Given the description of an element on the screen output the (x, y) to click on. 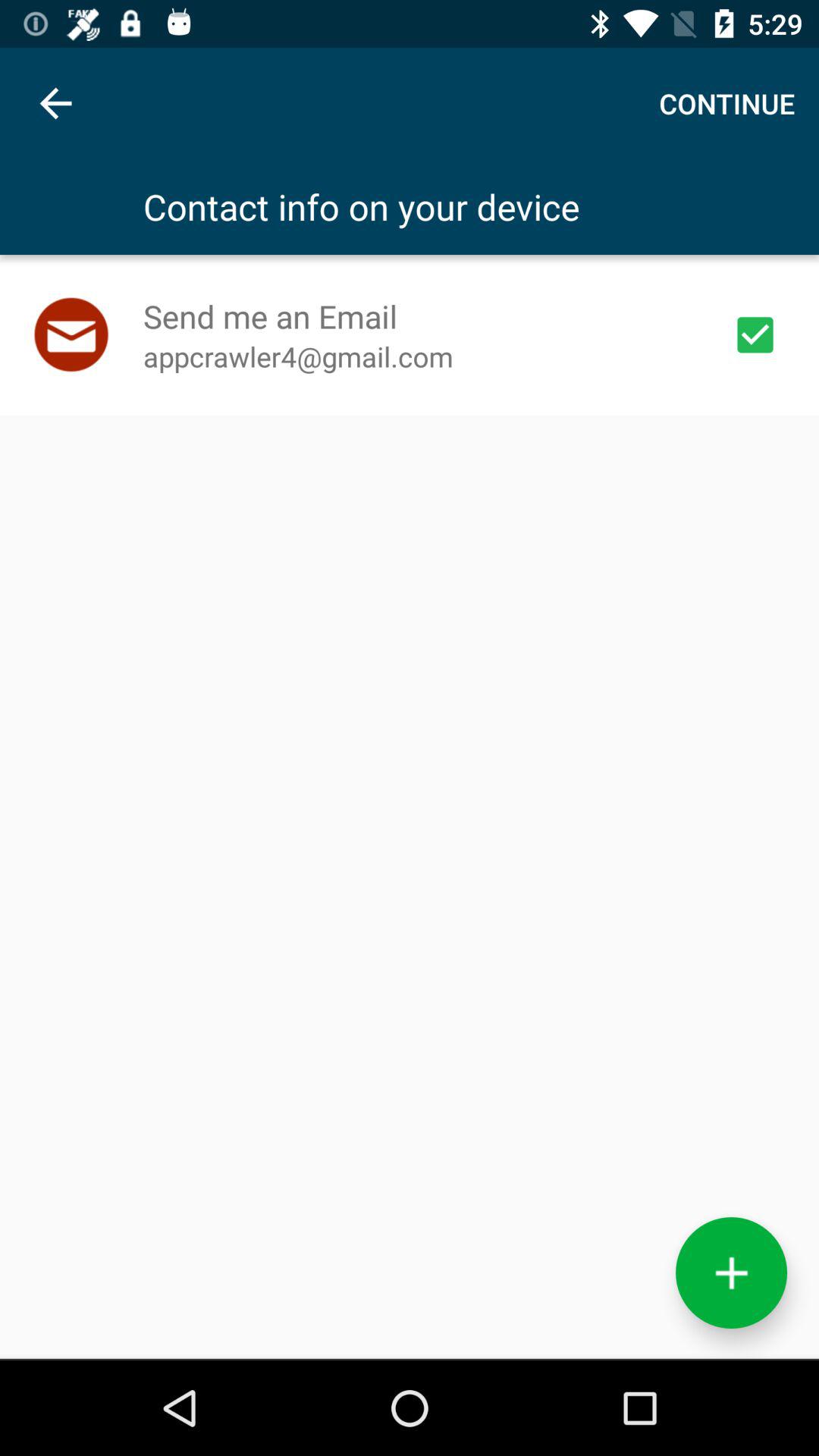
open the icon to the right of send me an item (755, 334)
